Given the description of an element on the screen output the (x, y) to click on. 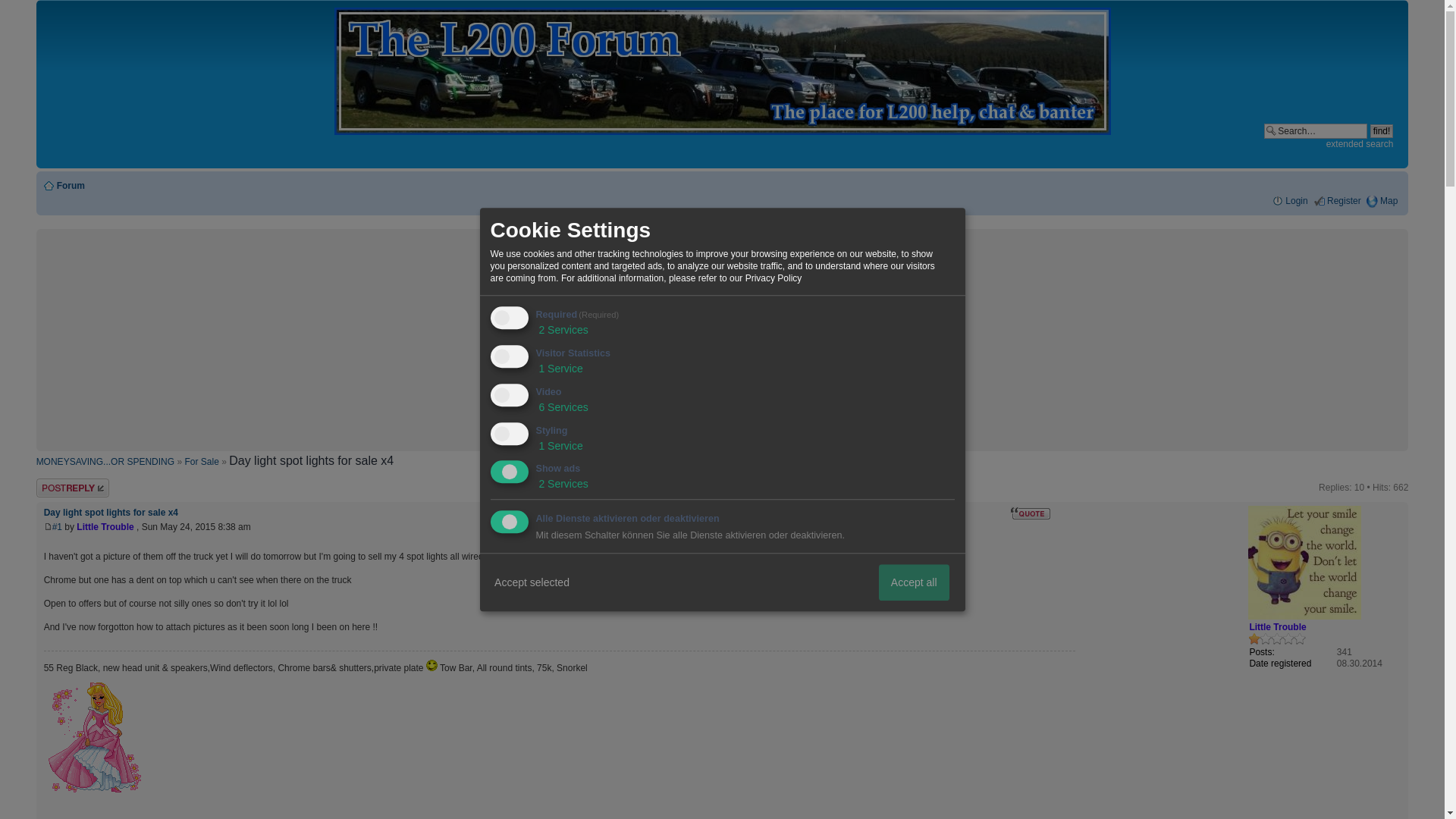
Little Trouble (105, 526)
reply (82, 487)
Search (1315, 130)
Day light spot lights for sale x4 (110, 511)
Forum (70, 185)
Login (1289, 200)
For Sale (201, 461)
find! (1381, 131)
reply (82, 487)
Map (1382, 200)
Day light spot lights for sale x4 (57, 526)
Little Trouble (1277, 626)
extended search (1359, 143)
MONEYSAVING...OR SPENDING (105, 461)
extended search (1359, 143)
